Given the description of an element on the screen output the (x, y) to click on. 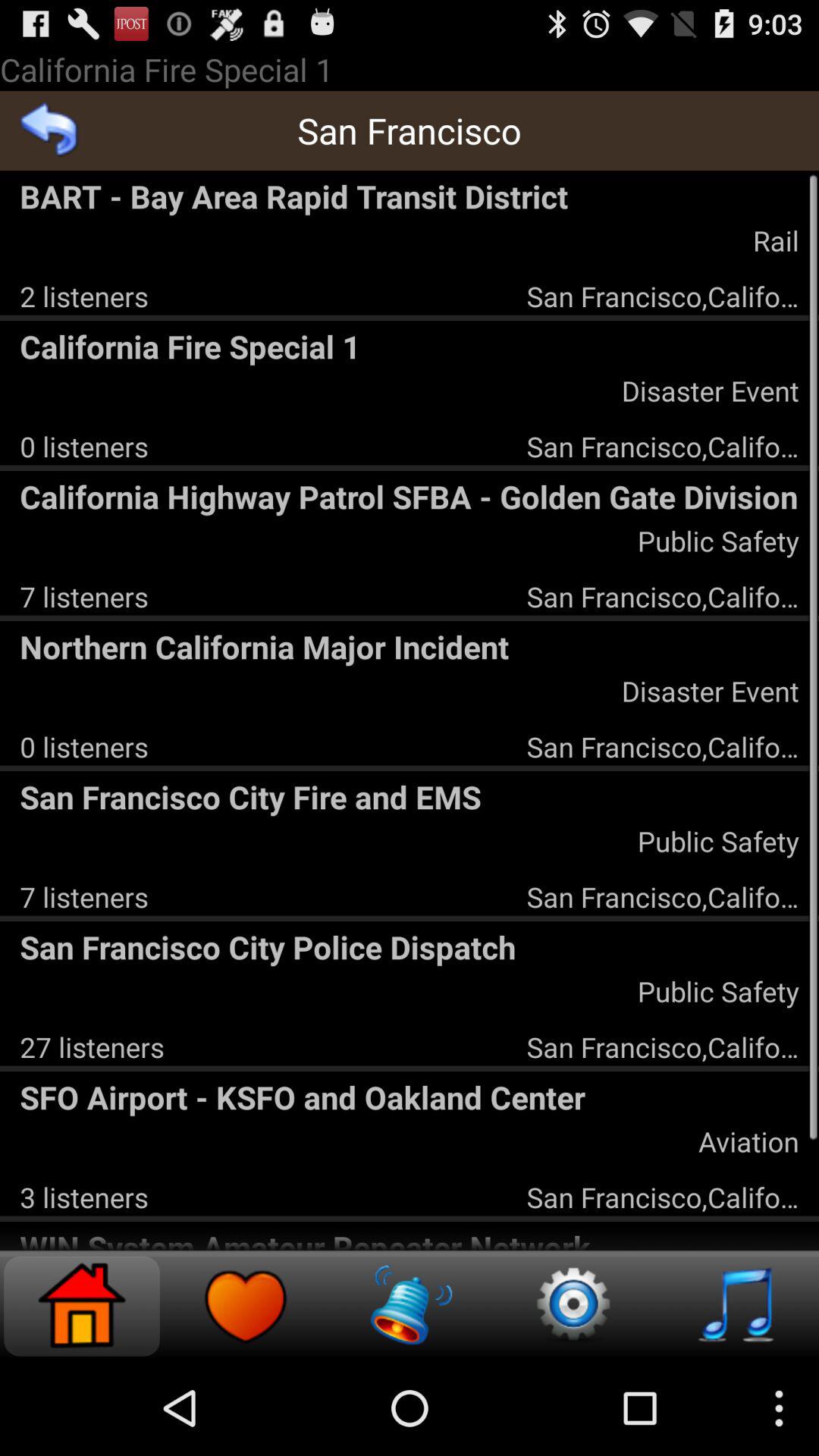
scroll to aviation icon (748, 1141)
